Given the description of an element on the screen output the (x, y) to click on. 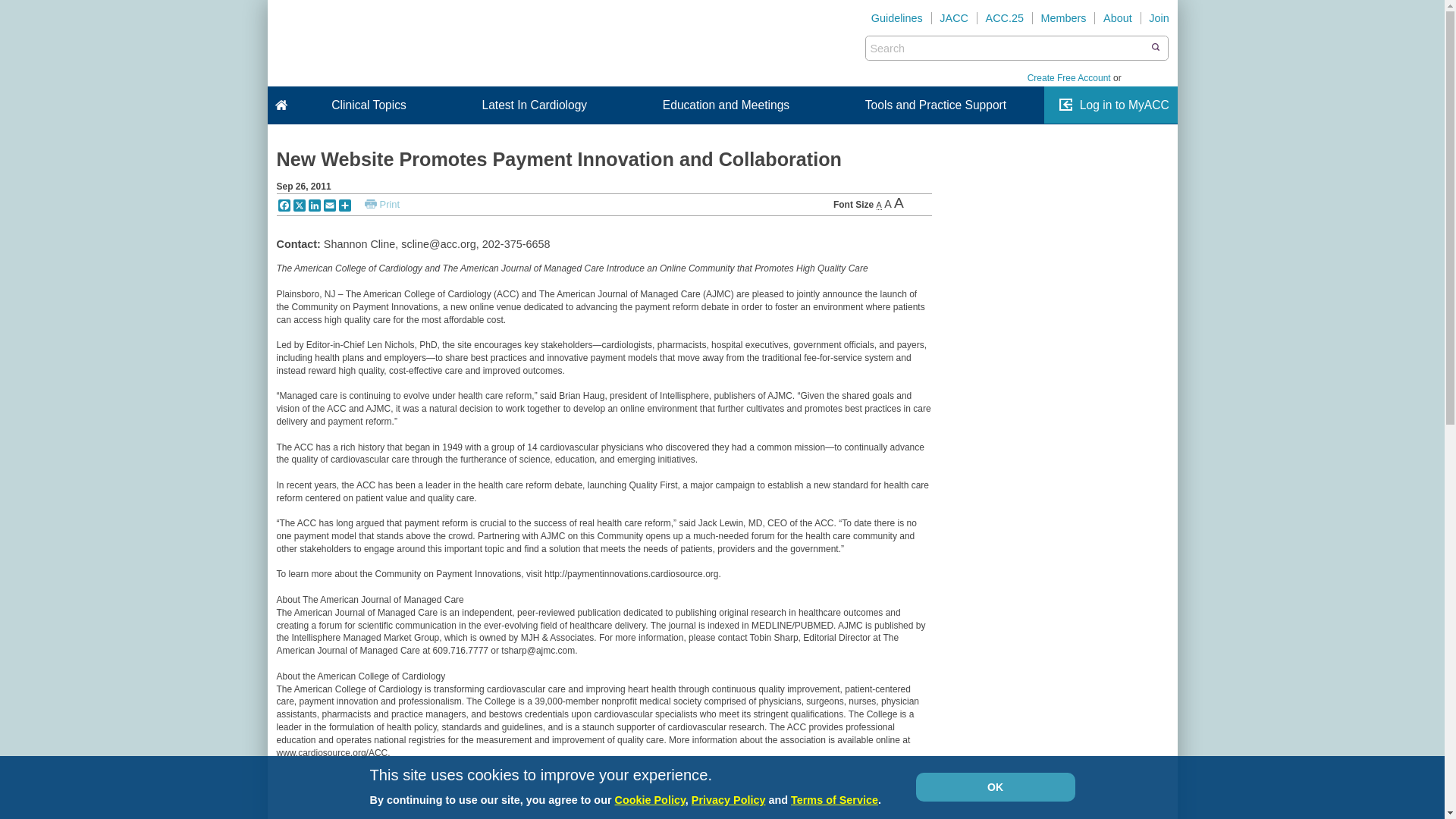
Create Free Account (1068, 77)
JACC.org (953, 18)
Insert a query. Press enter to send (1007, 47)
JACC (953, 18)
Join (1158, 18)
Latest In Cardiology (533, 104)
About (1117, 18)
Members (1063, 18)
ACC Annual Scientific Session (1004, 18)
Clinical Topics (368, 104)
ACC.25 (1004, 18)
Guidelines (897, 18)
Log in to MyACC (1124, 104)
